Given the description of an element on the screen output the (x, y) to click on. 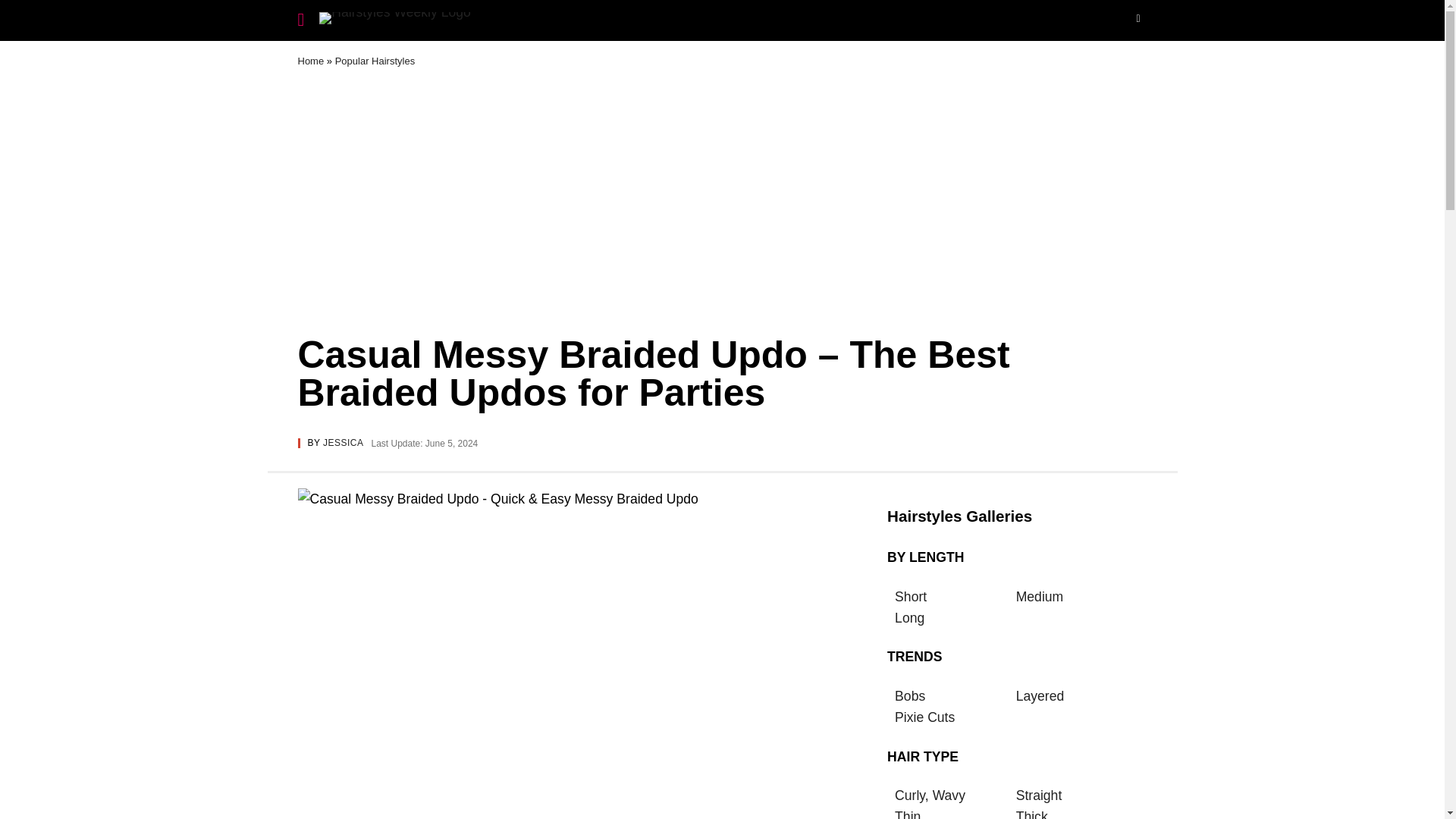
Search (1142, 20)
